Given the description of an element on the screen output the (x, y) to click on. 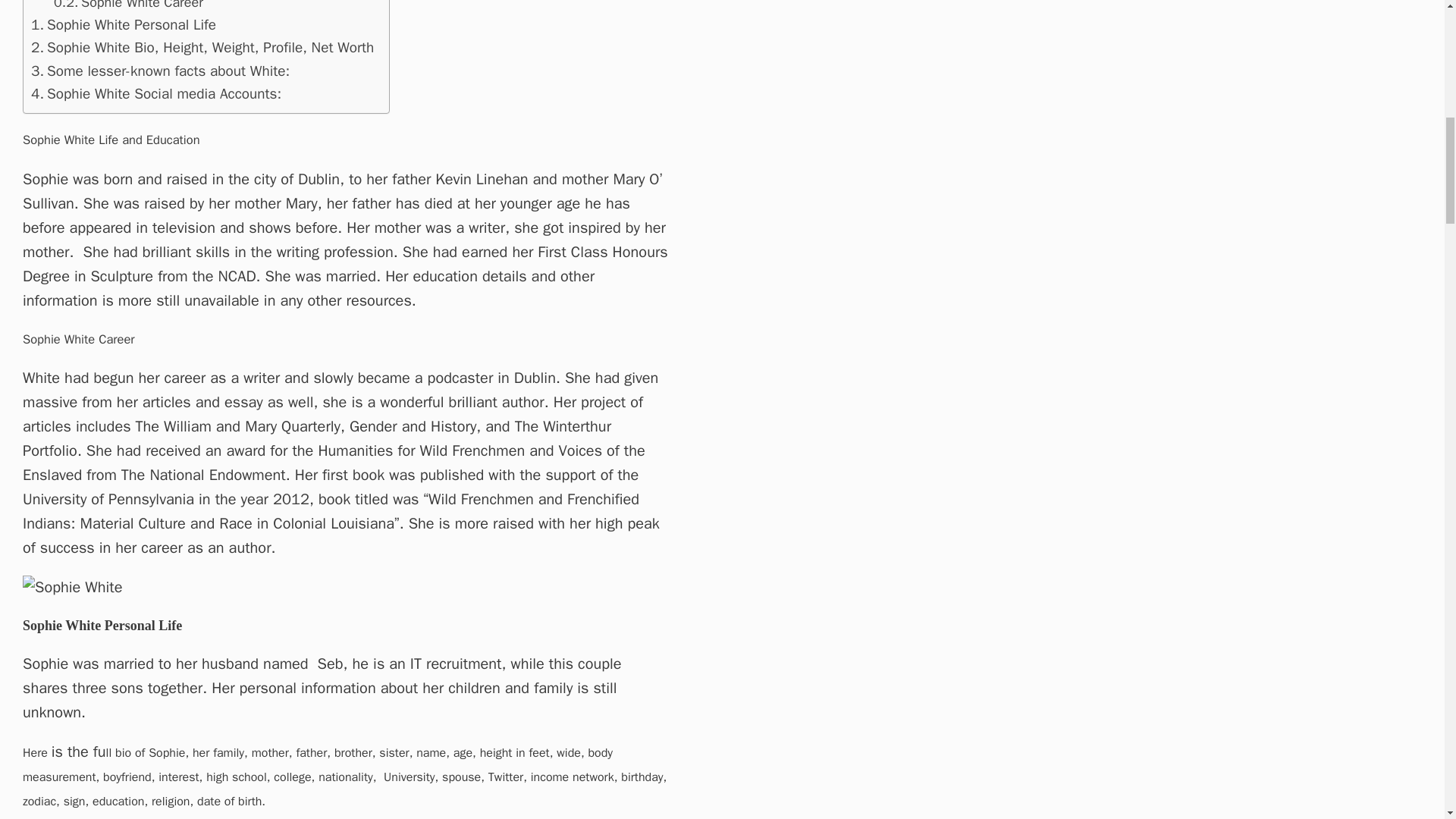
Some lesser-known facts about White: (159, 70)
Some lesser-known facts about White: (159, 70)
Sophie White Social media Accounts:  (157, 93)
Sophie White Bio, Height, Weight, Profile, Net Worth (202, 47)
Sophie White Career (128, 6)
Sophie White Career (128, 6)
Sophie White Bio, Height, Weight, Profile, Net Worth (202, 47)
Sophie White Personal Life (122, 24)
Sophie White Personal Life (122, 24)
